Given the description of an element on the screen output the (x, y) to click on. 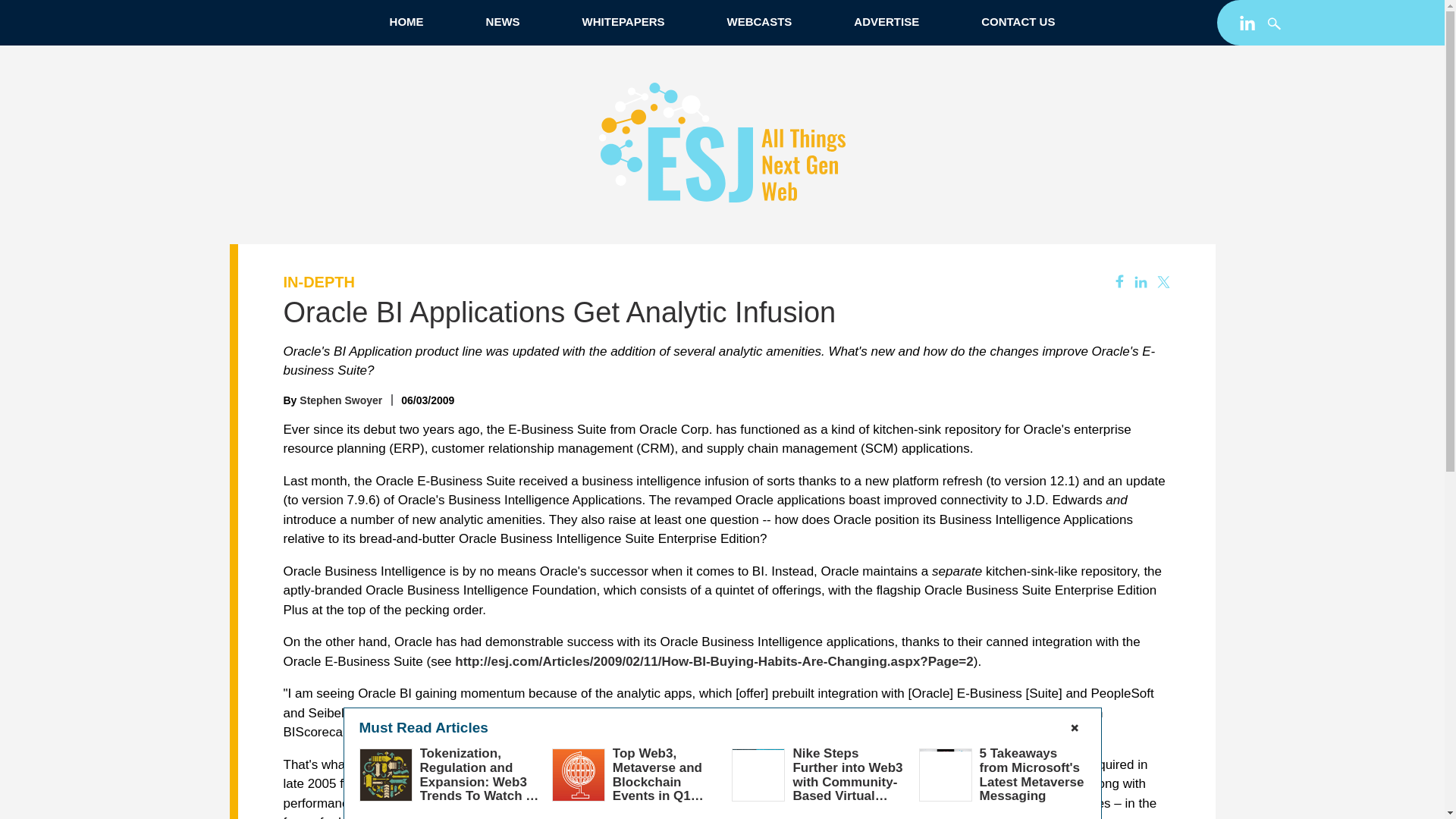
Stephen Swoyer (340, 399)
WEBCASTS (758, 21)
CONTACT US (1017, 21)
Top Web3, Metaverse and Blockchain Events in Q1 2023 (657, 781)
WHITEPAPERS (622, 21)
IN-DEPTH (319, 281)
ADVERTISE (886, 21)
HOME (406, 21)
